Given the description of an element on the screen output the (x, y) to click on. 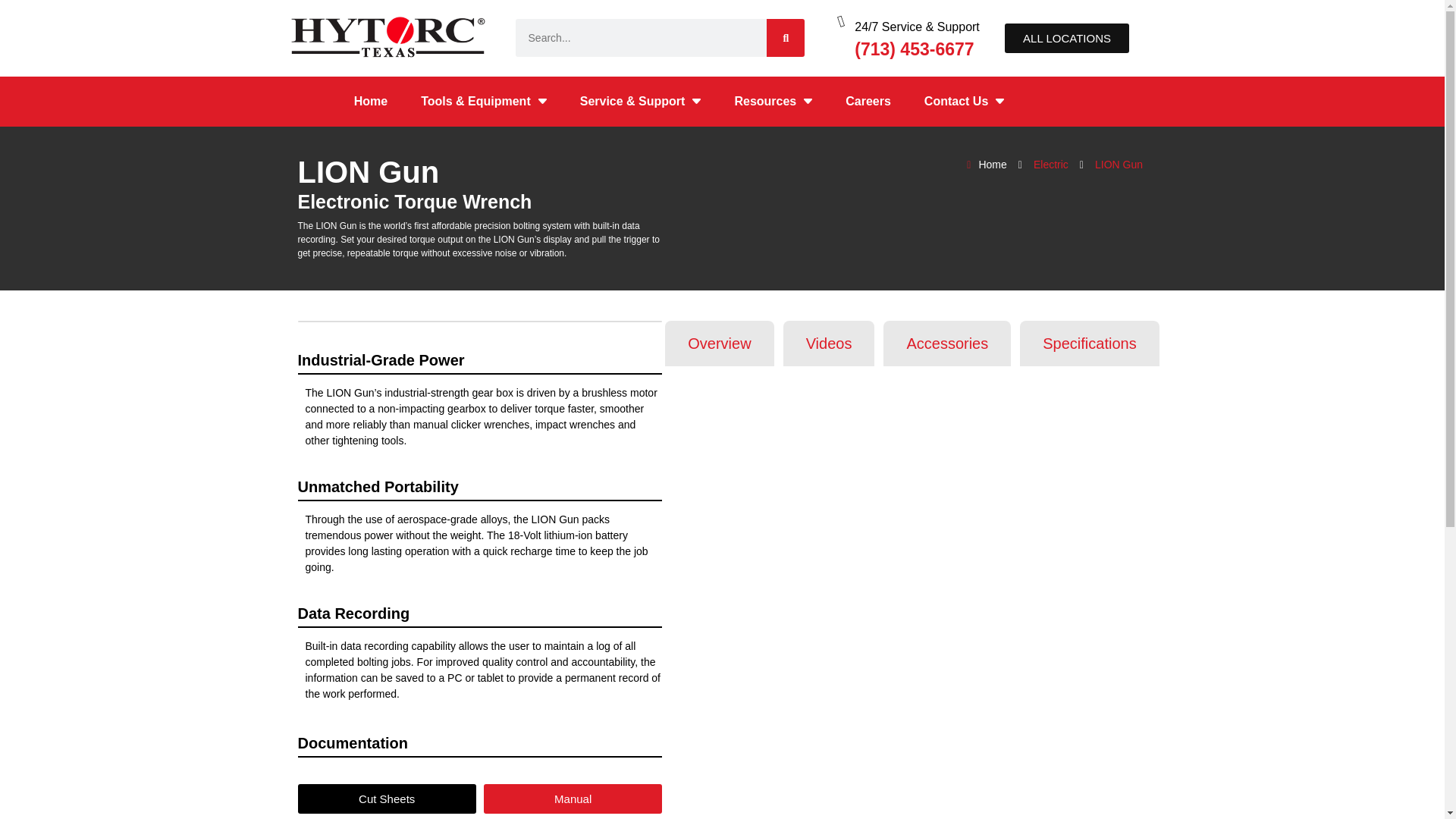
Resources (772, 101)
ALL LOCATIONS (1066, 38)
Home (370, 101)
